Given the description of an element on the screen output the (x, y) to click on. 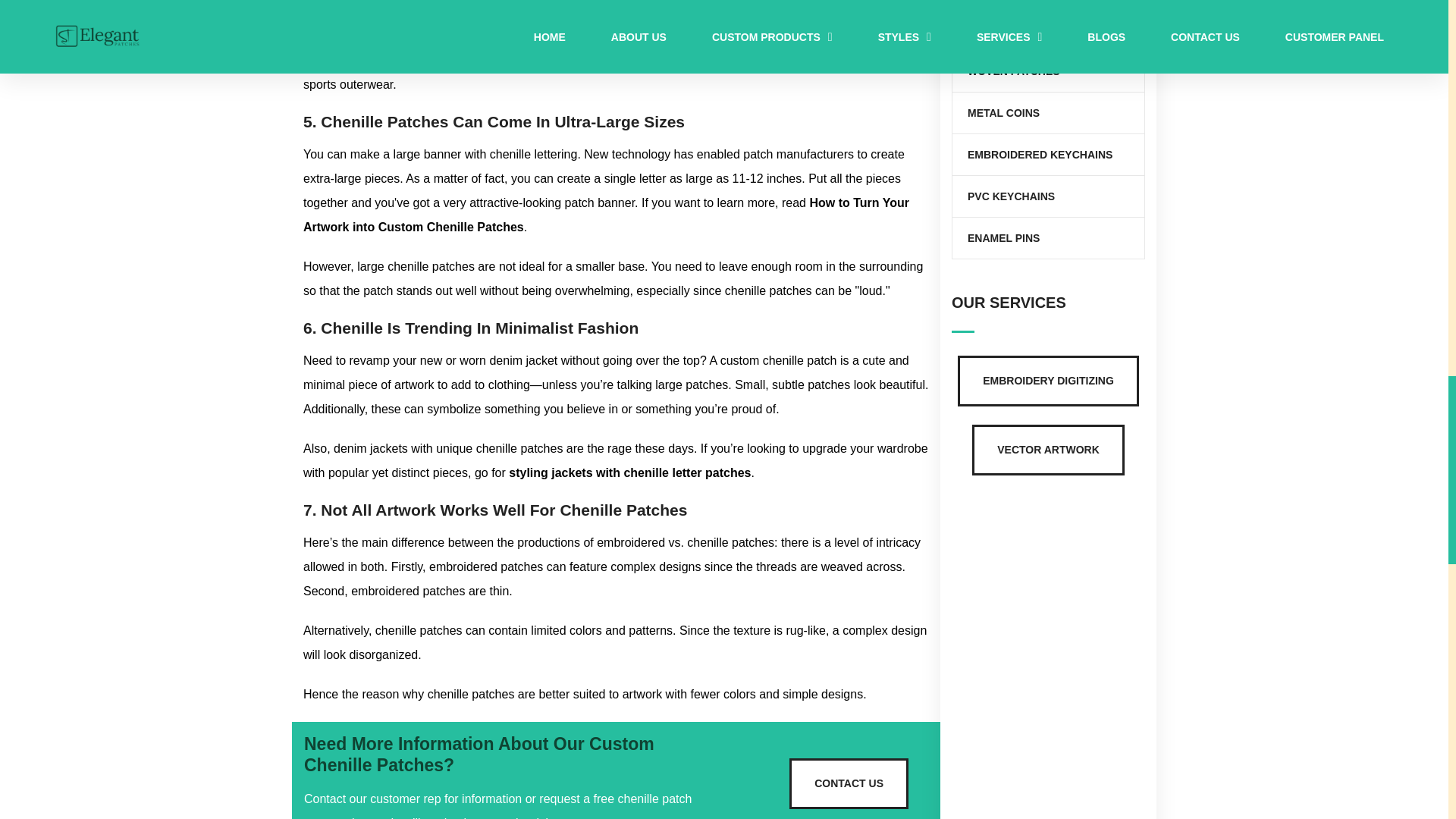
How to Turn Your Artwork into Custom Chenille Patches (605, 214)
